Given the description of an element on the screen output the (x, y) to click on. 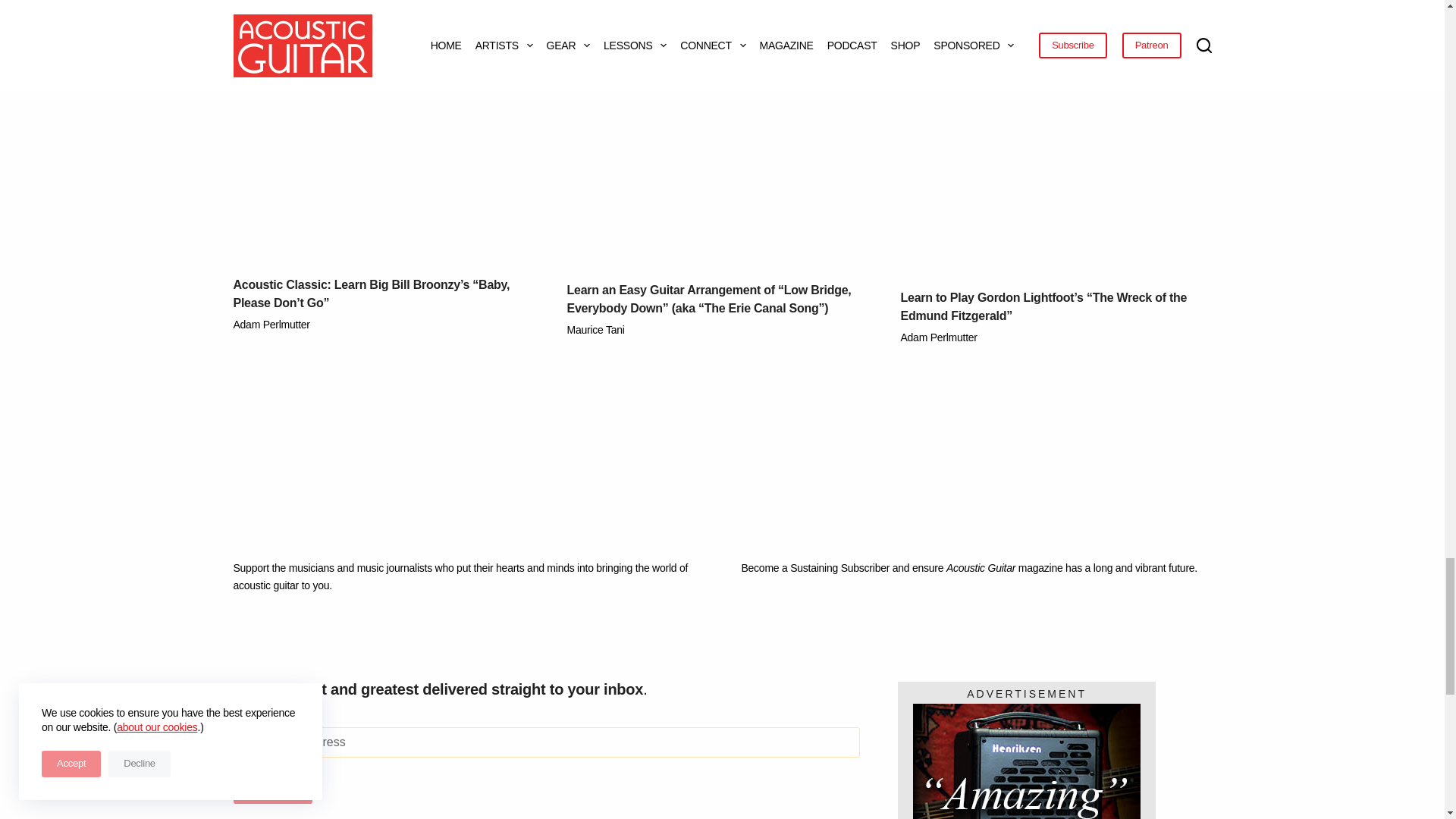
Posts by Adam Perlmutter (271, 324)
your email address (546, 742)
Posts by Adam Perlmutter (938, 337)
Posts by Maurice Tani (595, 329)
Advertisement: Henriksen (1026, 761)
